Given the description of an element on the screen output the (x, y) to click on. 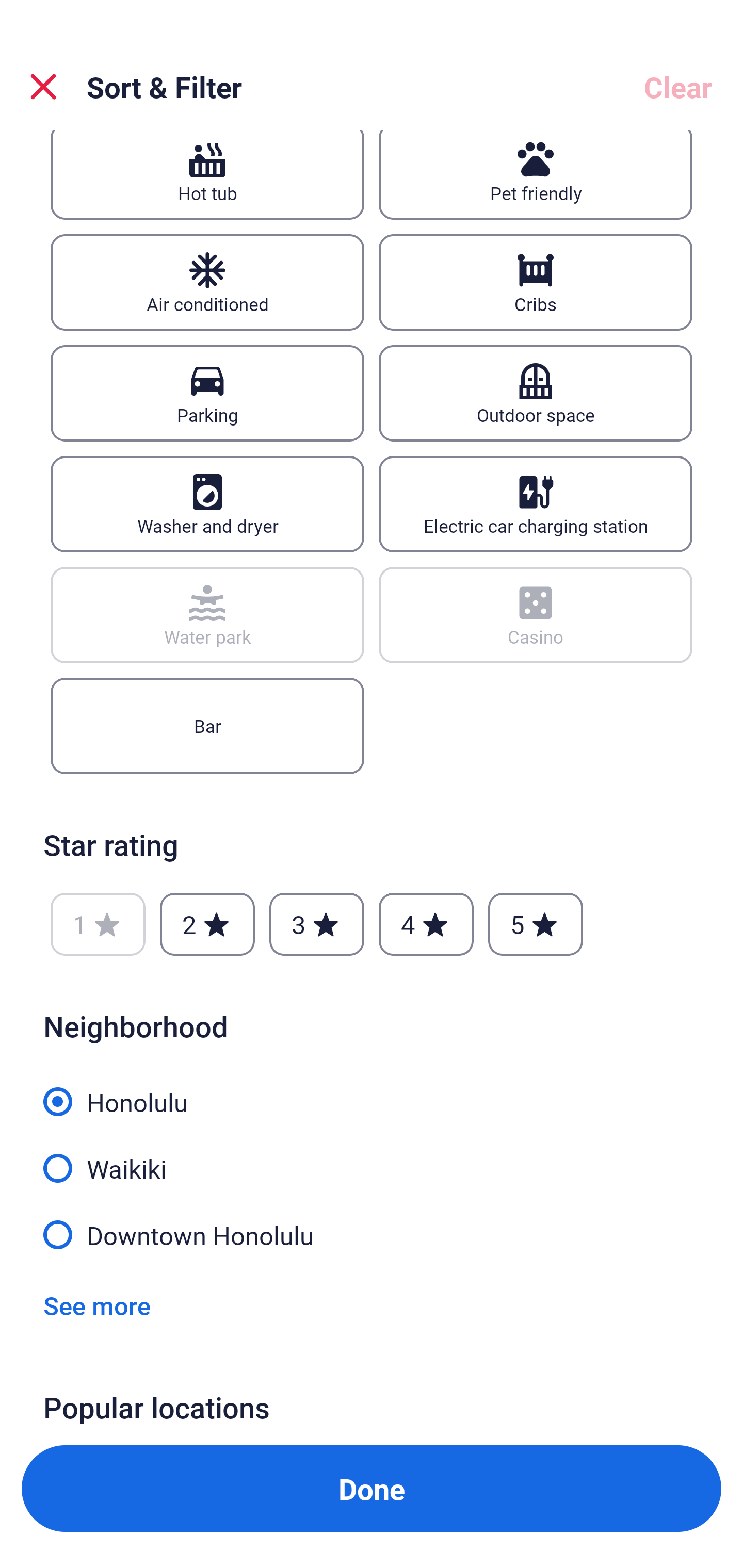
Close Sort and Filter (43, 86)
Clear (677, 86)
Hot tub (207, 174)
Pet friendly (535, 174)
Air conditioned (207, 281)
Cribs (535, 281)
Parking (207, 393)
Outdoor space (535, 393)
Washer and dryer (207, 503)
Electric car charging station (535, 503)
Water park (207, 615)
Casino (535, 615)
Bar (207, 725)
1 (97, 924)
2 (206, 924)
3 (316, 924)
4 (426, 924)
5 (535, 924)
Waikiki (371, 1157)
Downtown Honolulu (371, 1233)
See more See more neighborhoods Link (96, 1305)
Apply and close Sort and Filter Done (371, 1488)
